Given the description of an element on the screen output the (x, y) to click on. 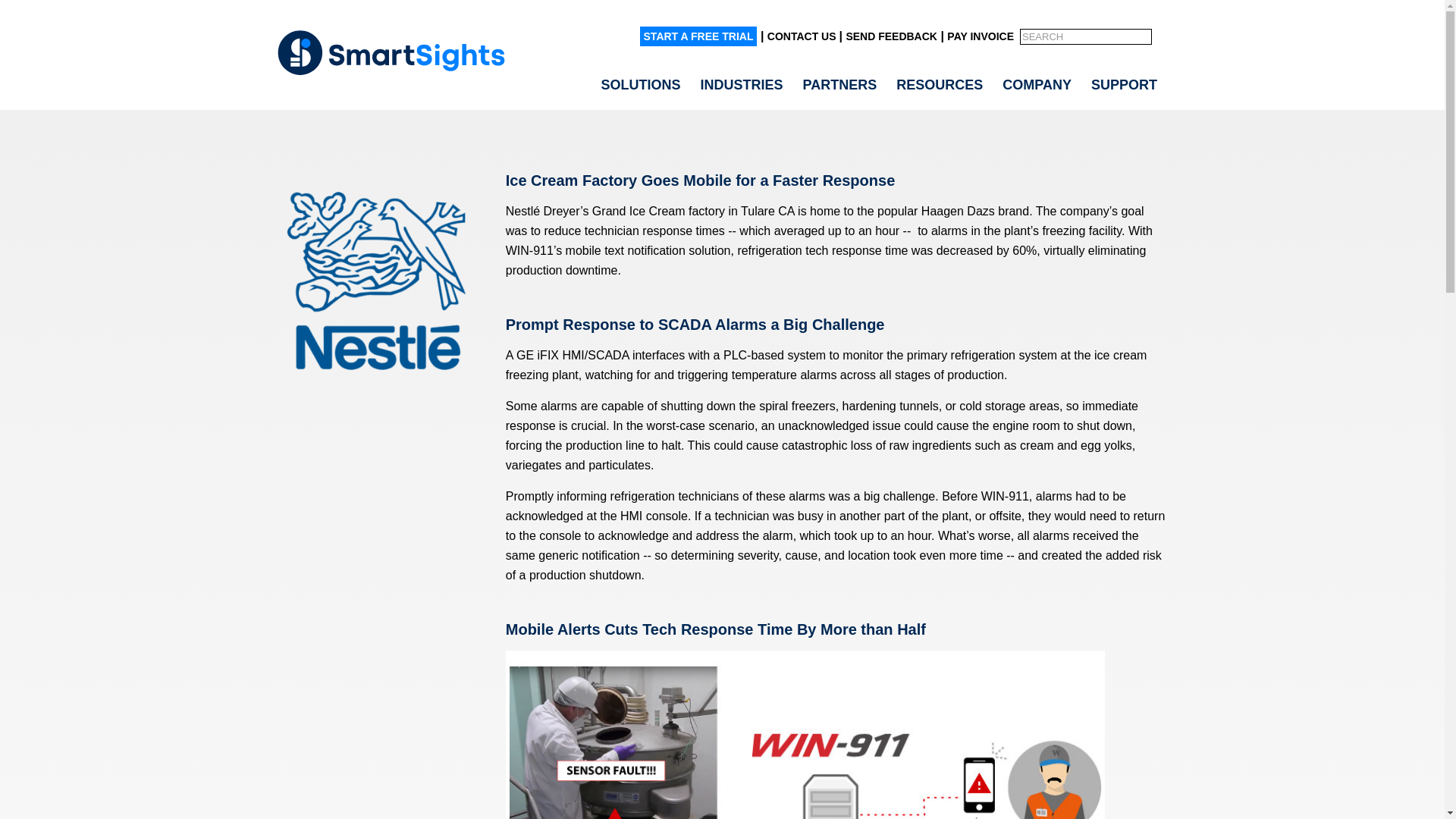
SOLUTIONS (640, 84)
INDUSTRIES (741, 84)
PAY INVOICE (980, 36)
PARTNERS (839, 84)
START A FREE TRIAL (698, 35)
SEND FEEDBACK (891, 36)
CONTACT US (803, 36)
